Given the description of an element on the screen output the (x, y) to click on. 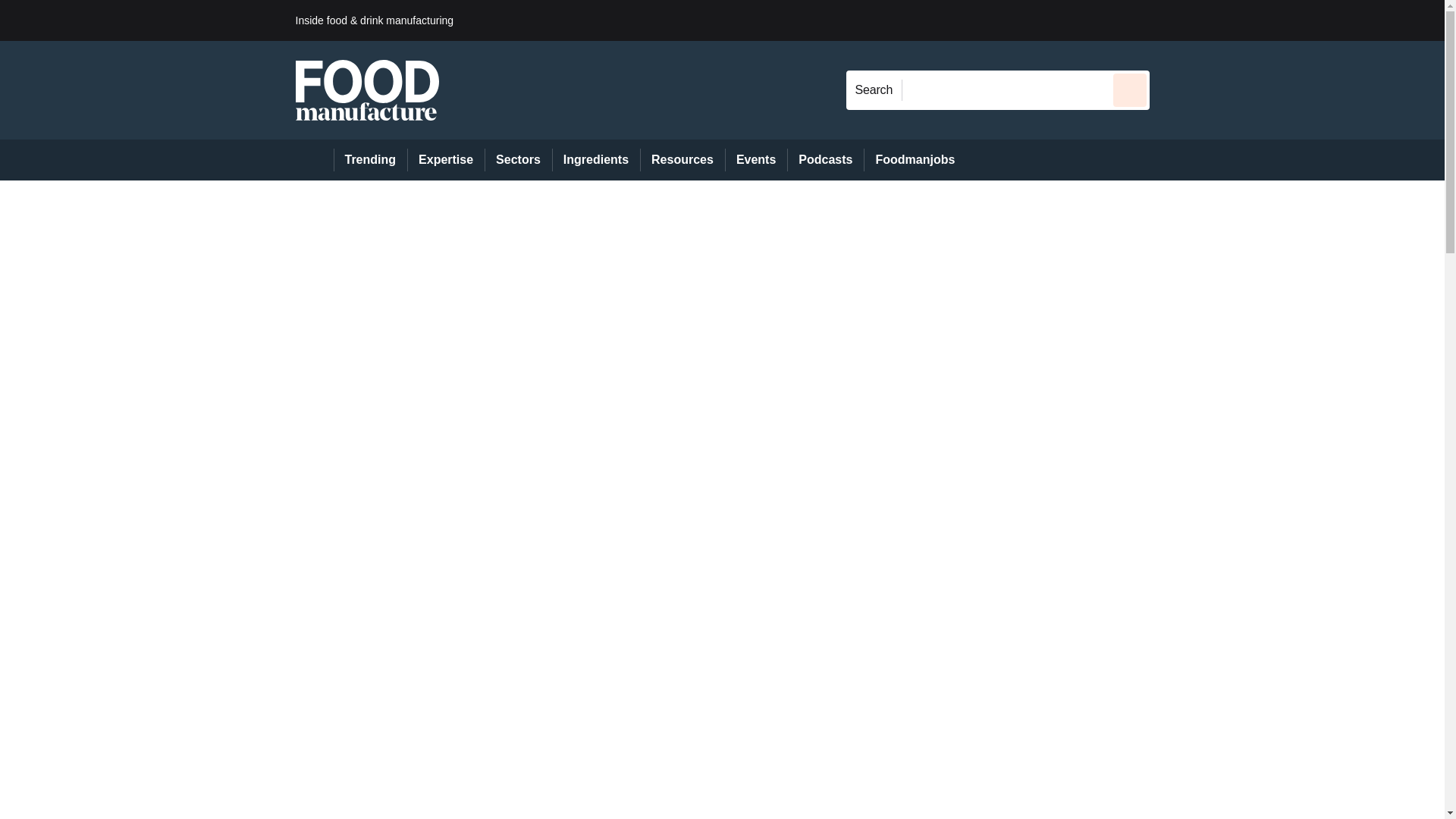
My account (1256, 20)
REGISTER (1250, 20)
Home (313, 159)
Sign out (1174, 20)
Trending (370, 159)
Send (1129, 90)
Home (314, 159)
Send (1129, 89)
FoodManufacture (367, 89)
Expertise (445, 159)
